Given the description of an element on the screen output the (x, y) to click on. 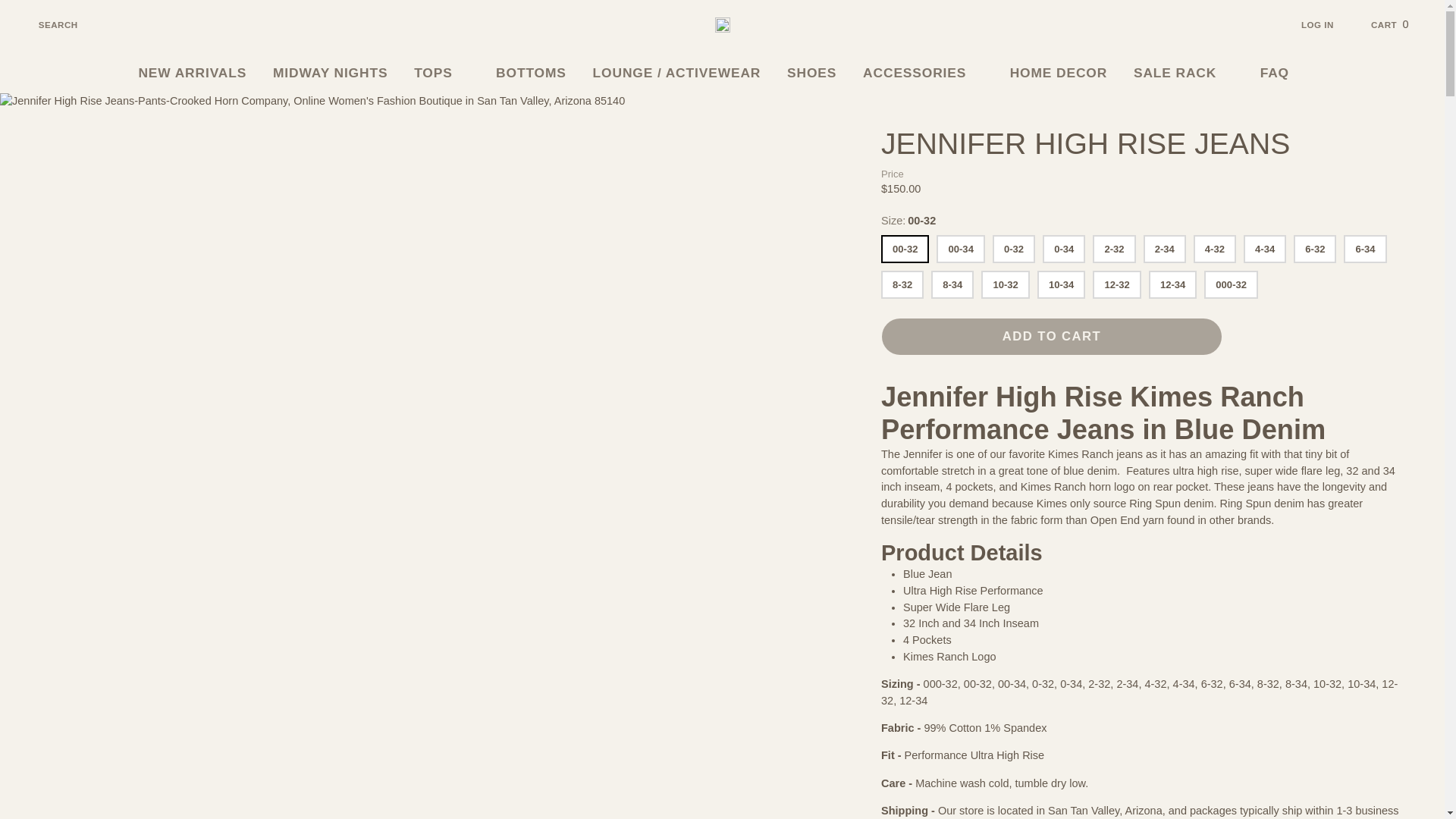
NEW ARRIVALS (192, 72)
